Given the description of an element on the screen output the (x, y) to click on. 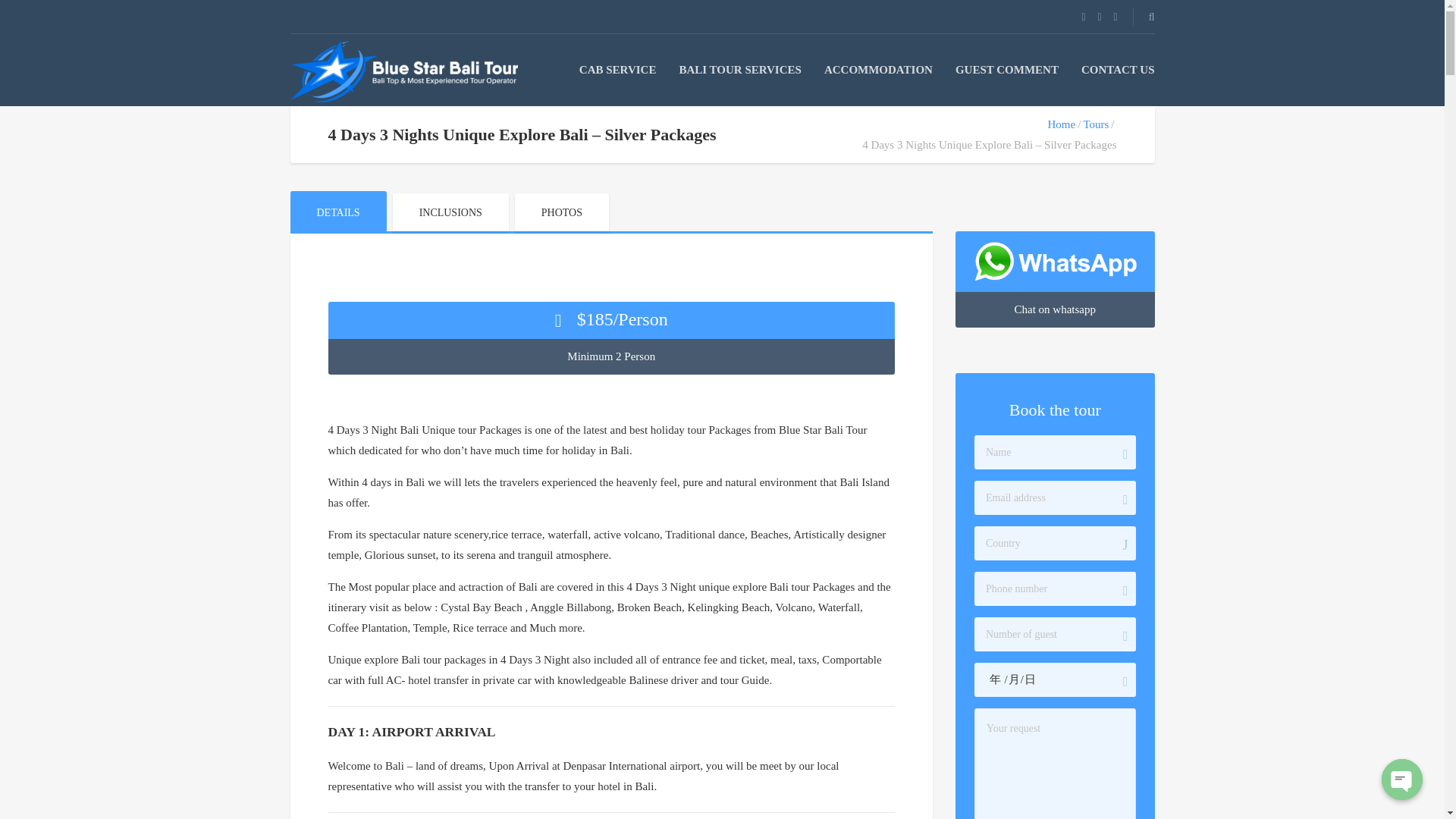
BALI TOUR SERVICES (739, 69)
CAB SERVICE (617, 69)
